Given the description of an element on the screen output the (x, y) to click on. 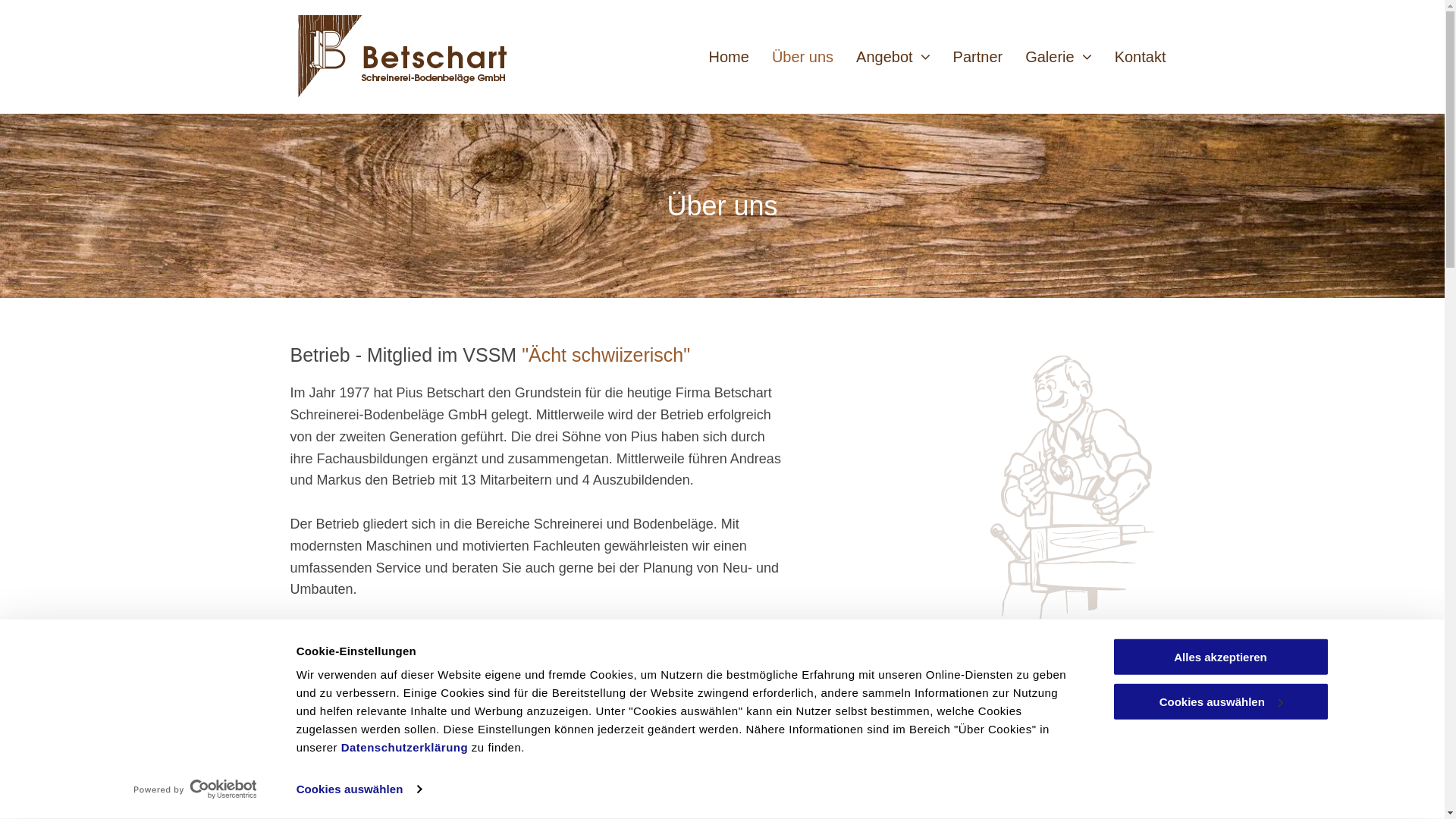
Alles akzeptieren Element type: text (1219, 656)
Galerie Element type: text (1058, 57)
Home Element type: text (729, 57)
Kontakt Element type: text (1140, 57)
Partner Element type: text (978, 57)
Angebot Element type: text (893, 57)
